Given the description of an element on the screen output the (x, y) to click on. 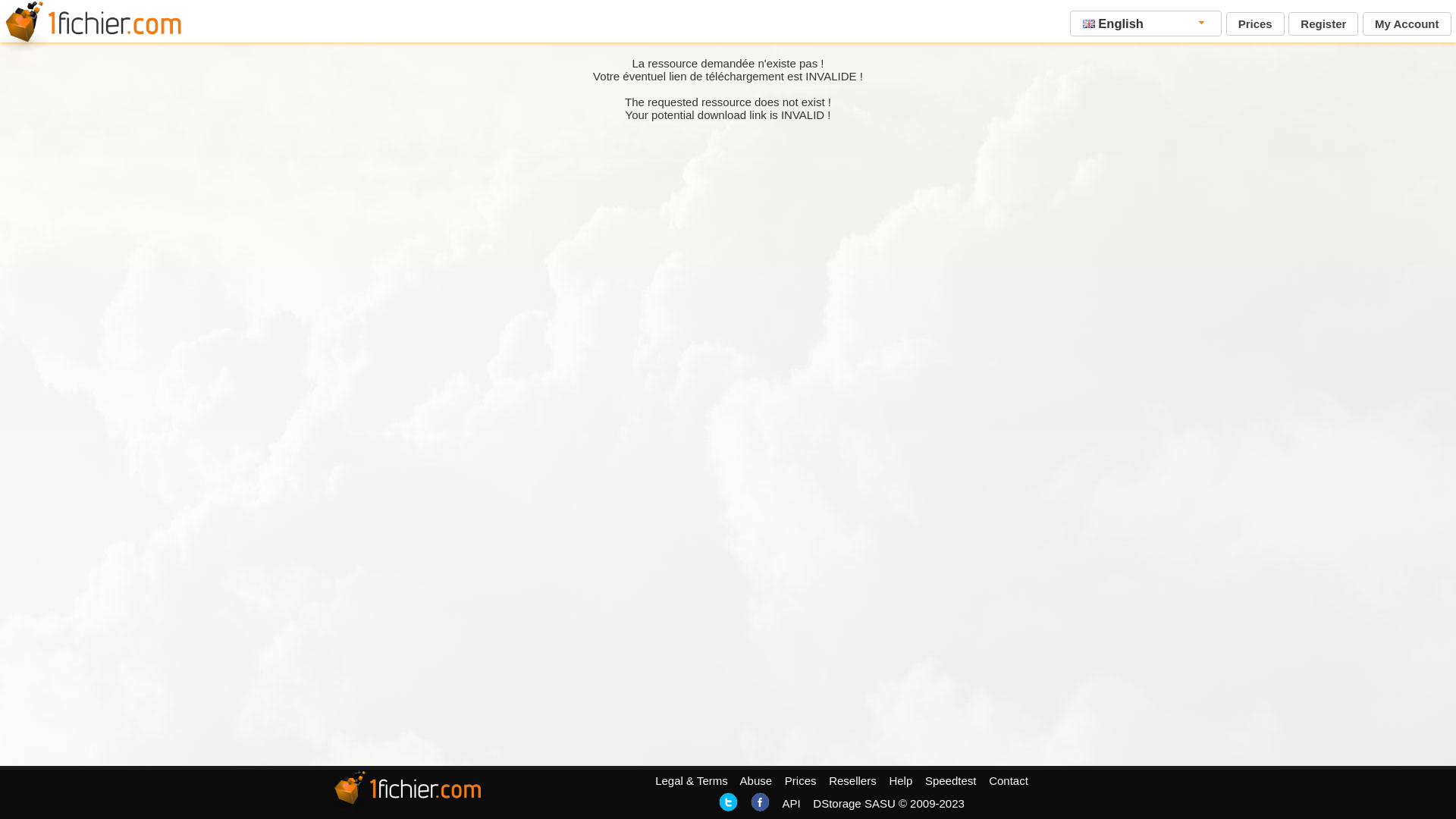
API Element type: text (790, 803)
Resellers Element type: text (852, 780)
Prices Element type: text (800, 780)
Prices Element type: text (1255, 23)
Speedtest Element type: text (950, 780)
Abuse Element type: text (756, 780)
Contact Element type: text (1008, 780)
Legal & Terms Element type: text (691, 780)
Help Element type: text (900, 780)
Register Element type: text (1323, 23)
My Account Element type: text (1406, 23)
